Given the description of an element on the screen output the (x, y) to click on. 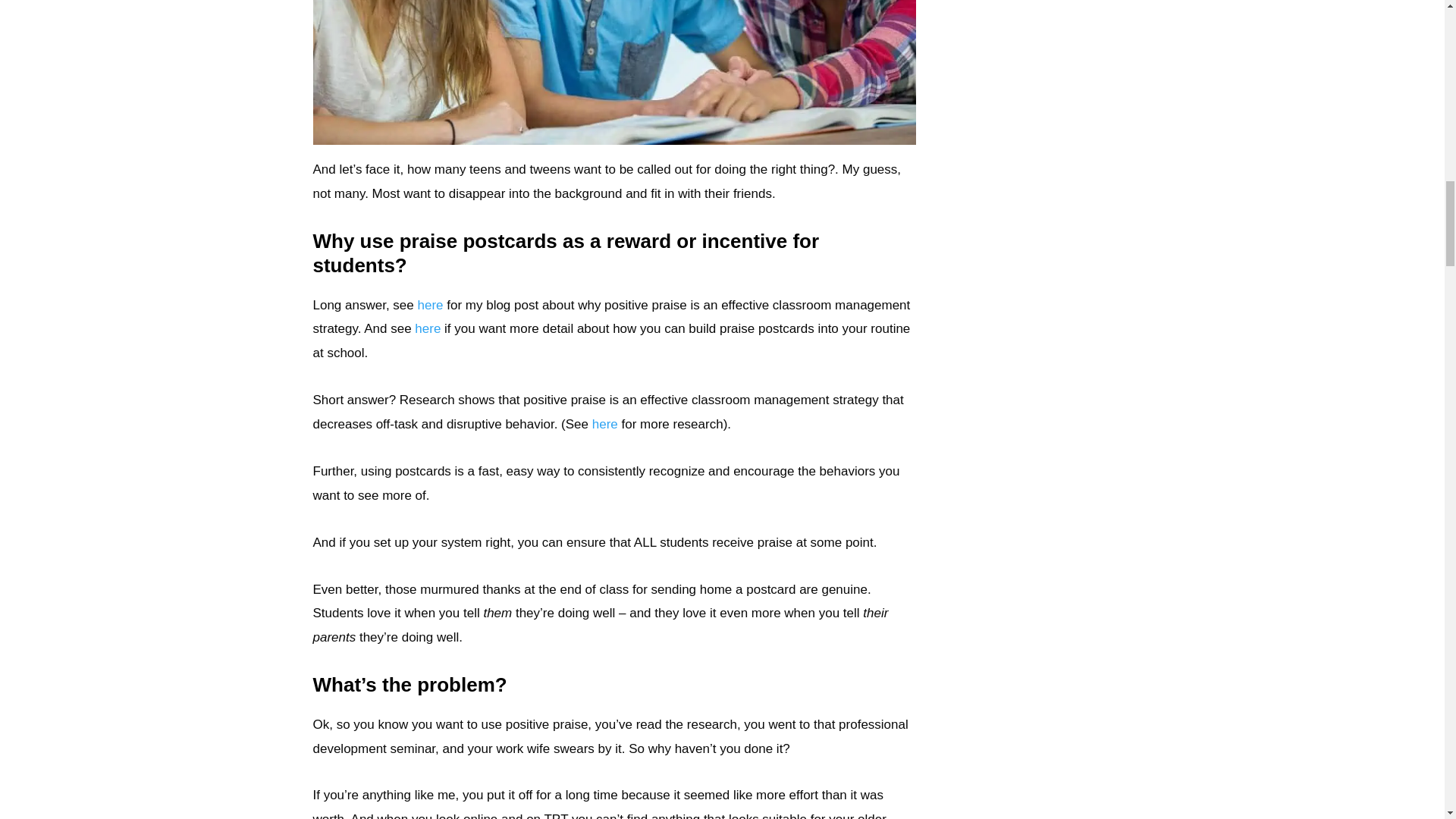
here (429, 304)
here (604, 423)
here (427, 328)
